Given the description of an element on the screen output the (x, y) to click on. 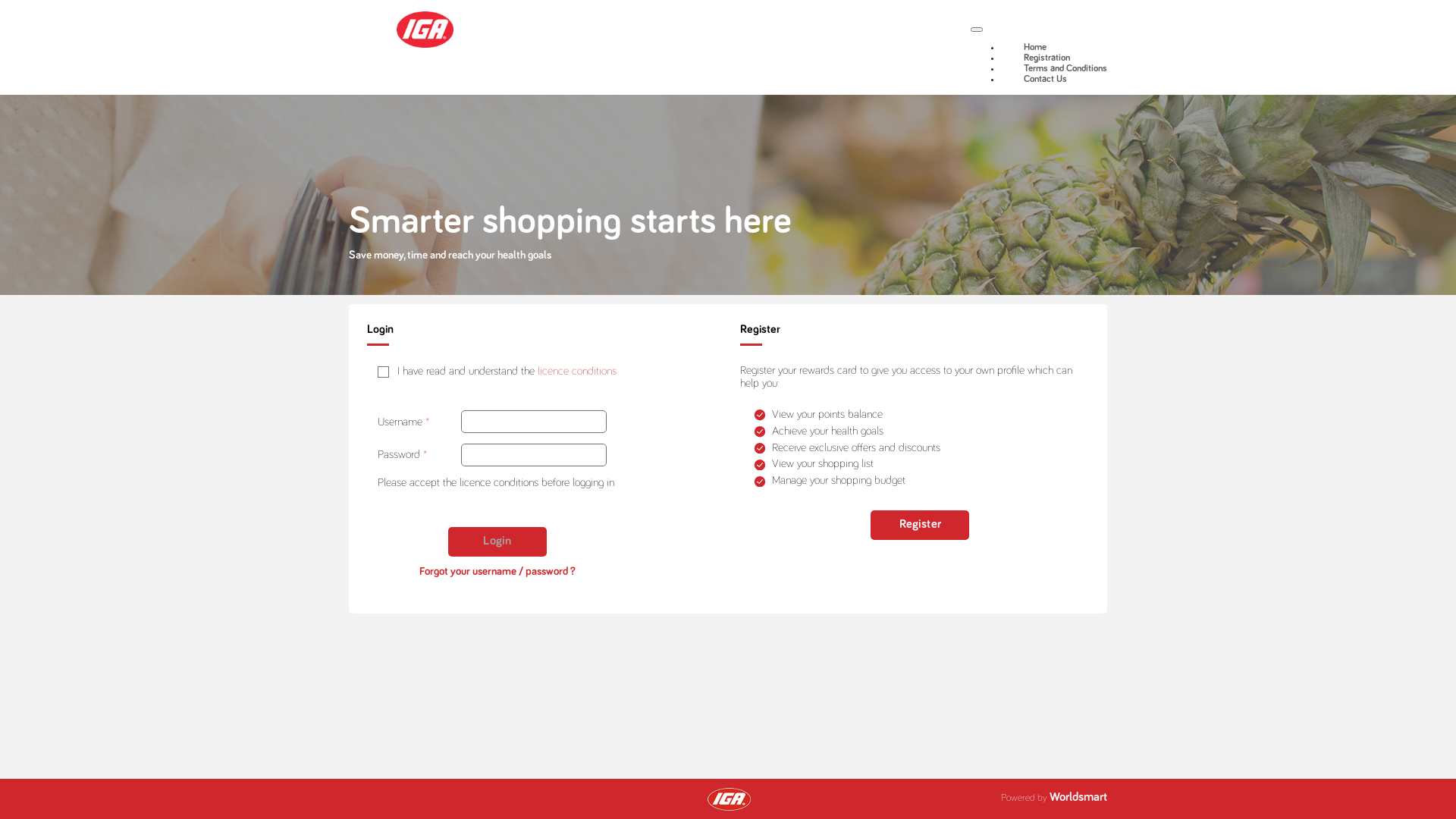
Forgot your username / password ? Element type: text (497, 463)
Terms and Conditions Element type: text (1065, 68)
Home Element type: text (1034, 47)
Registration Element type: text (1046, 57)
Register Element type: text (919, 482)
Login Element type: text (497, 433)
Contact Us Element type: text (1044, 79)
licence conditions Element type: text (576, 329)
